Given the description of an element on the screen output the (x, y) to click on. 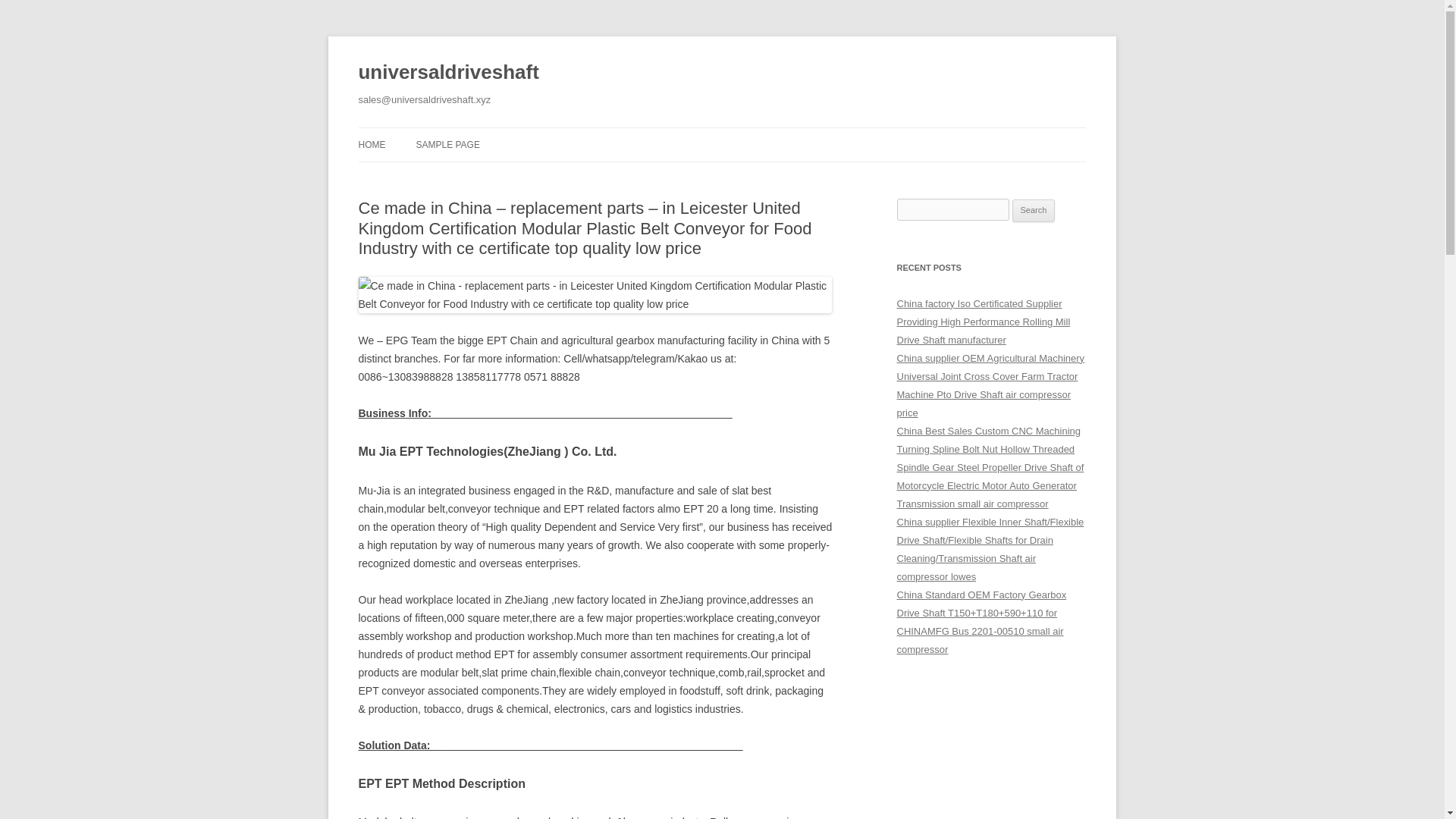
Search (1033, 210)
universaldriveshaft (448, 72)
SAMPLE PAGE (446, 144)
universaldriveshaft (448, 72)
